Given the description of an element on the screen output the (x, y) to click on. 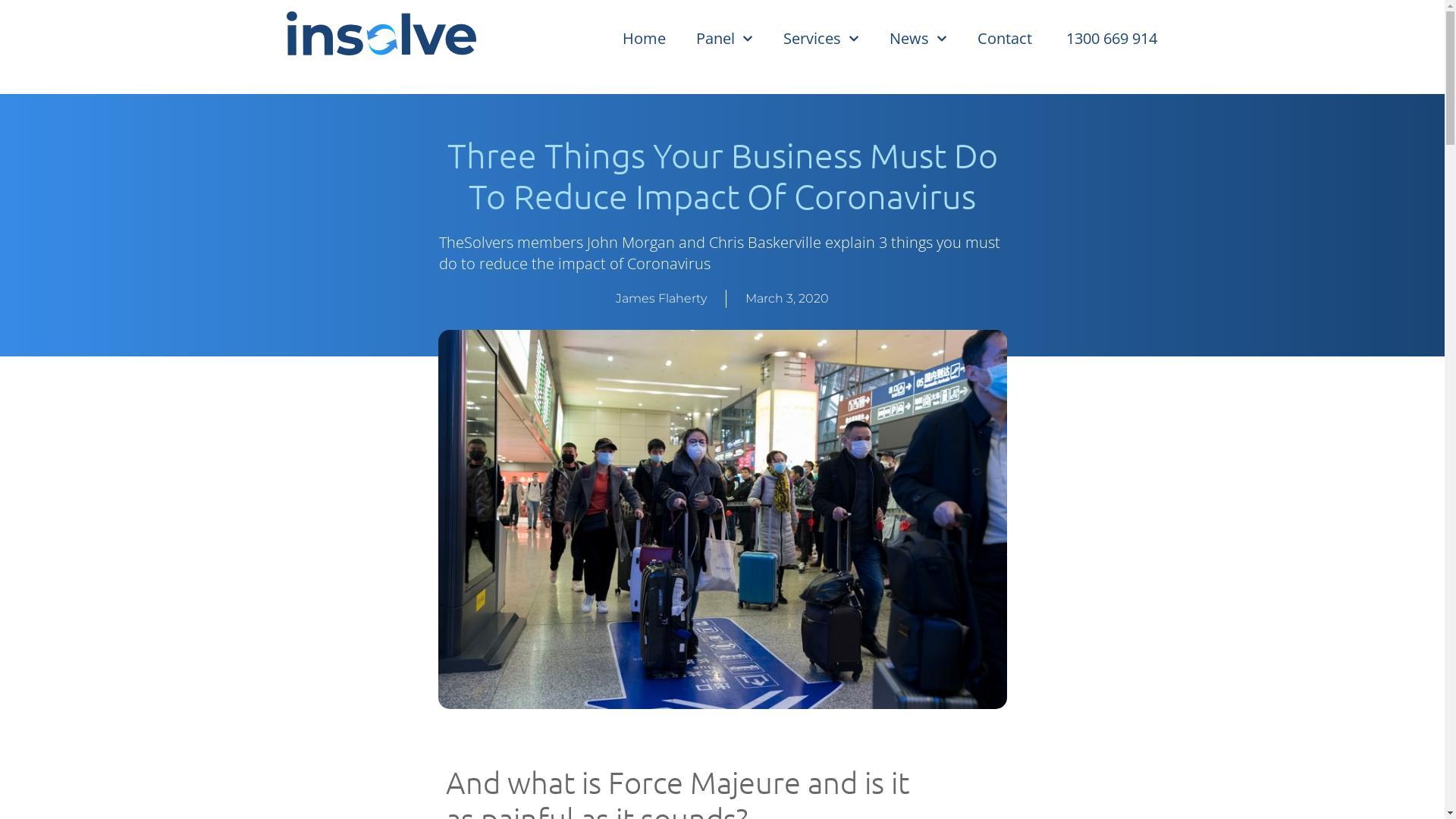
Services Element type: text (820, 38)
Contact Element type: text (1003, 38)
 1300 669 914 Element type: text (1108, 38)
March 3, 2020 Element type: text (786, 298)
Panel Element type: text (724, 38)
Home Element type: text (643, 38)
News Element type: text (917, 38)
James Flaherty Element type: text (660, 298)
